Given the description of an element on the screen output the (x, y) to click on. 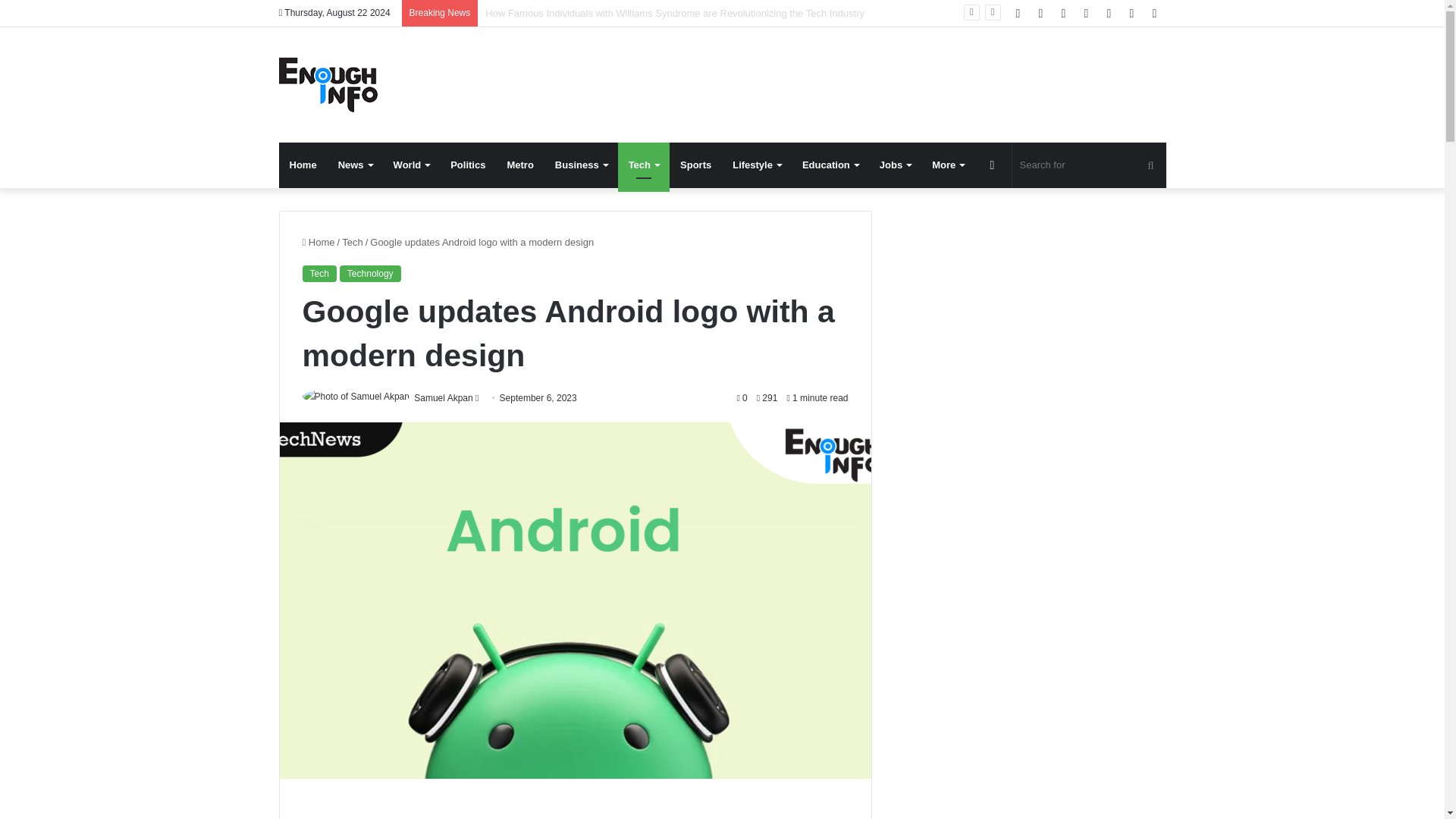
News (354, 165)
Advertisement (574, 810)
Search for (1088, 165)
Metro (519, 165)
Jobs (895, 165)
EnoughInfo - Daily information and reference blog (328, 84)
Education (830, 165)
Business (580, 165)
Lifestyle (757, 165)
Home (303, 165)
